Given the description of an element on the screen output the (x, y) to click on. 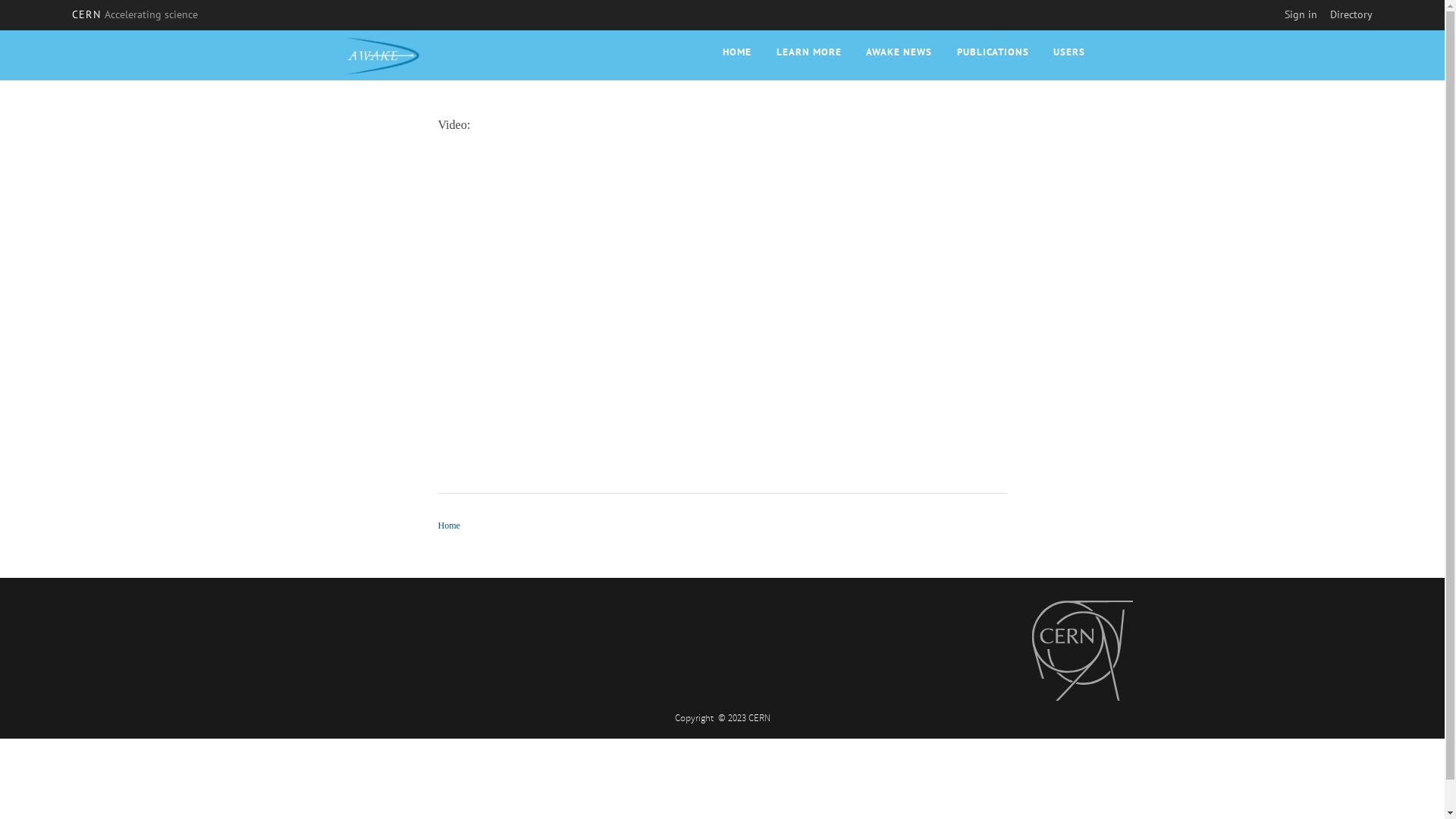
Sign in Element type: text (1300, 14)
HOME Element type: text (737, 51)
Home Element type: text (449, 525)
Directory Element type: text (1351, 14)
CERN Element type: hover (1082, 650)
Skip to main content Element type: text (0, 30)
CERN Accelerating science Element type: text (134, 14)
Copyright Element type: text (694, 718)
LEARN MORE Element type: text (809, 51)
PUBLICATIONS Element type: text (993, 51)
Home Element type: hover (383, 52)
AWAKE NEWS Element type: text (899, 51)
USERS Element type: text (1069, 51)
